Given the description of an element on the screen output the (x, y) to click on. 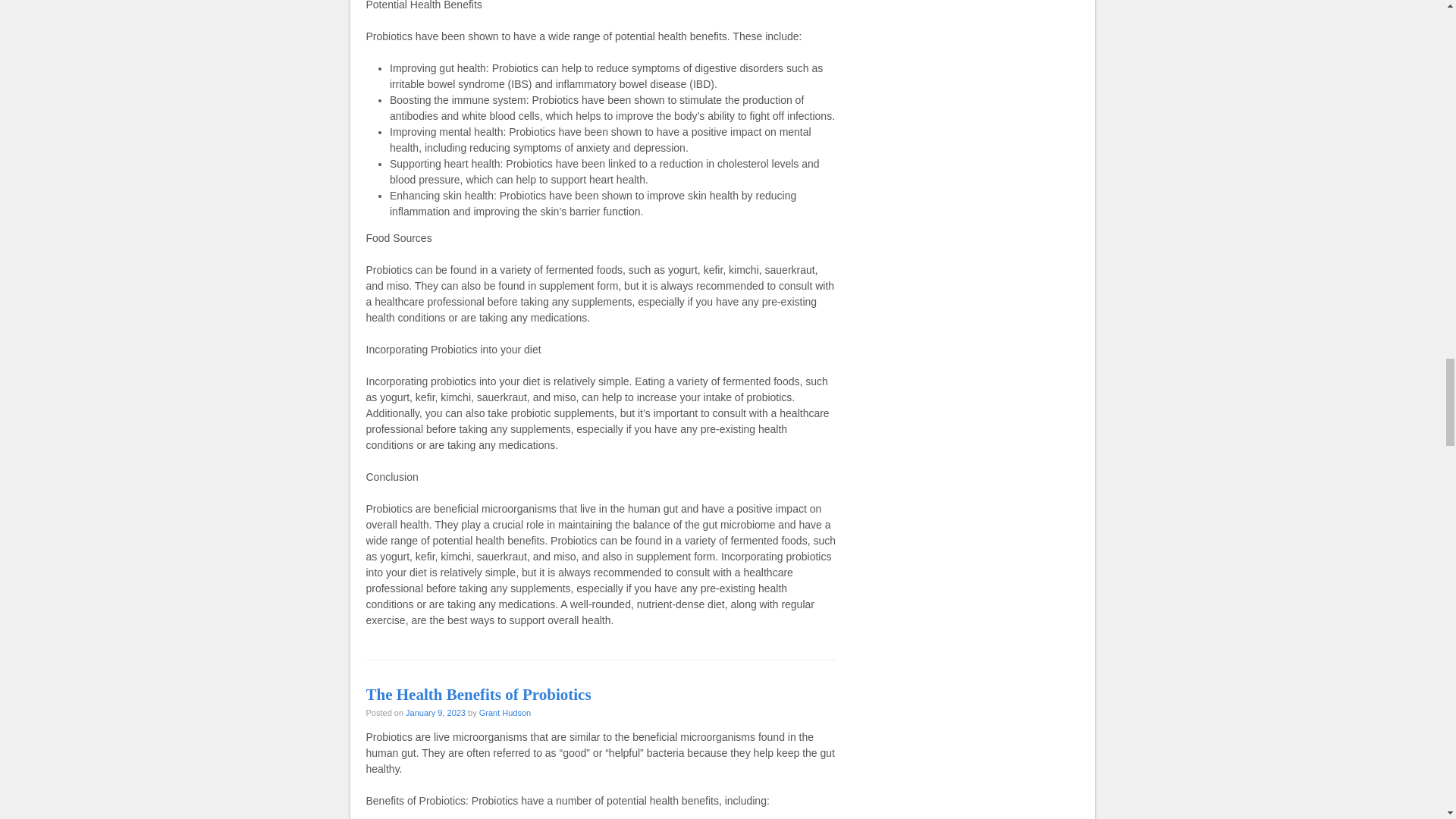
Grant Hudson (505, 712)
7:49 am (435, 712)
The Health Benefits of Probiotics (478, 694)
Permalink to The Health Benefits of Probiotics (478, 694)
January 9, 2023 (435, 712)
View all posts by Grant Hudson (505, 712)
